Given the description of an element on the screen output the (x, y) to click on. 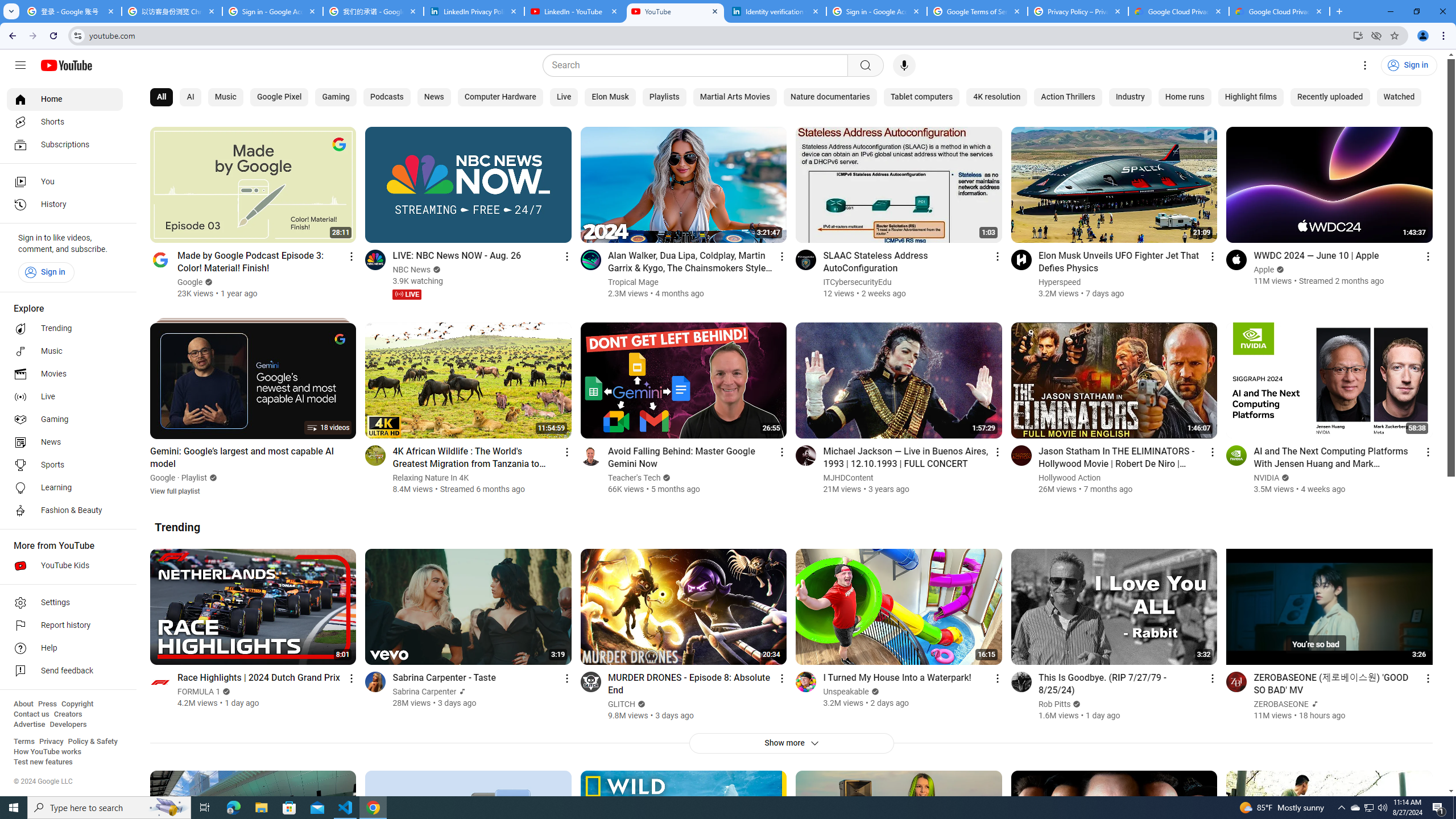
Creators (67, 714)
NBC News (411, 269)
Press (46, 703)
Relaxing Nature In 4K (431, 477)
Sign in - Google Accounts (271, 11)
Copyright (77, 703)
Go to channel (1236, 681)
Gaming (335, 97)
Elon Musk (610, 97)
